Given the description of an element on the screen output the (x, y) to click on. 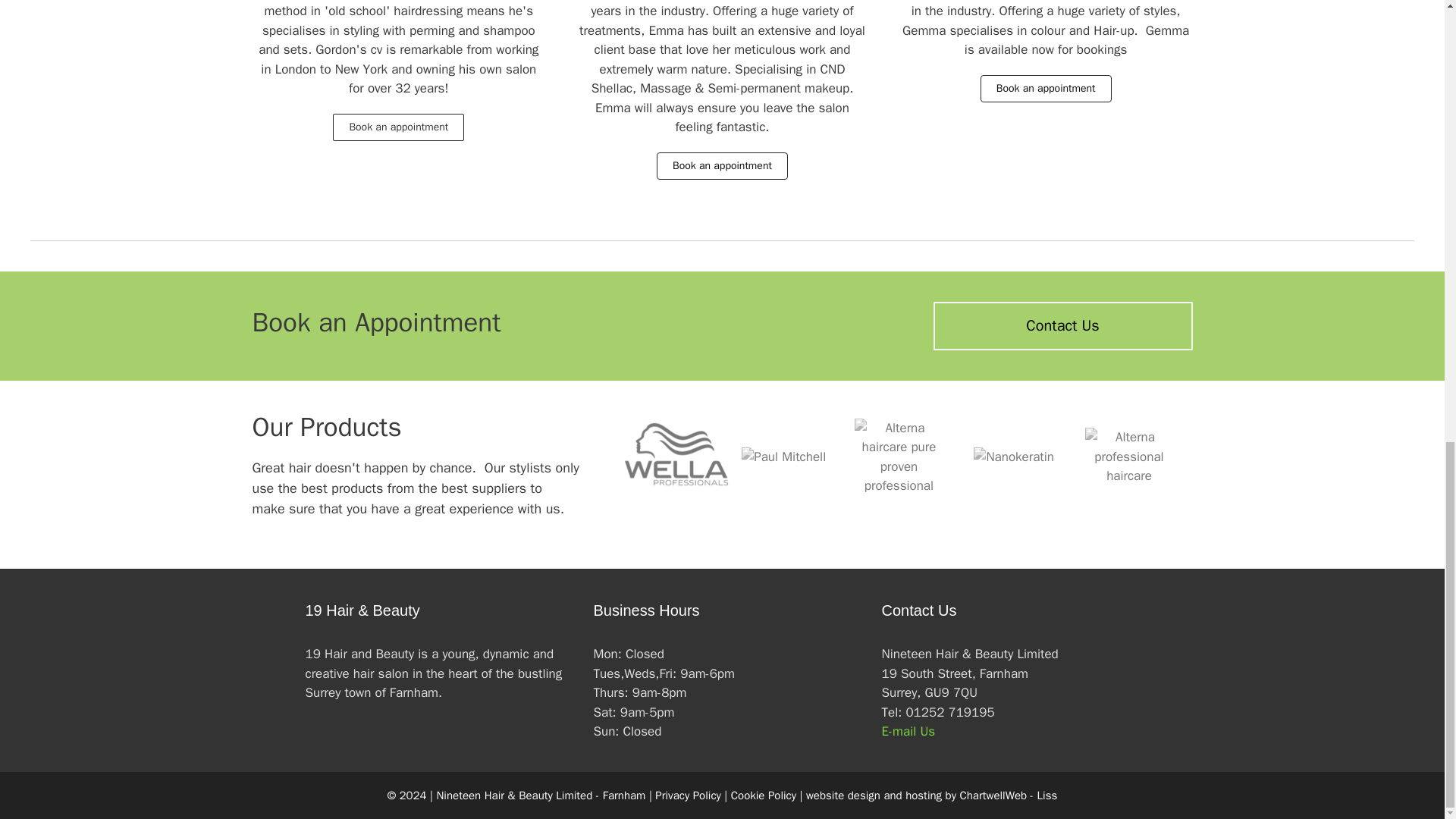
Book an appointment (398, 126)
Privacy Policy (687, 795)
Contact Us (1062, 326)
Book an appointment (721, 165)
ChartwellWeb - Liss (1008, 795)
Book an appointment (1045, 88)
Scroll back to top (1406, 575)
Cookie Policy (763, 795)
E-mail Us (907, 731)
